Given the description of an element on the screen output the (x, y) to click on. 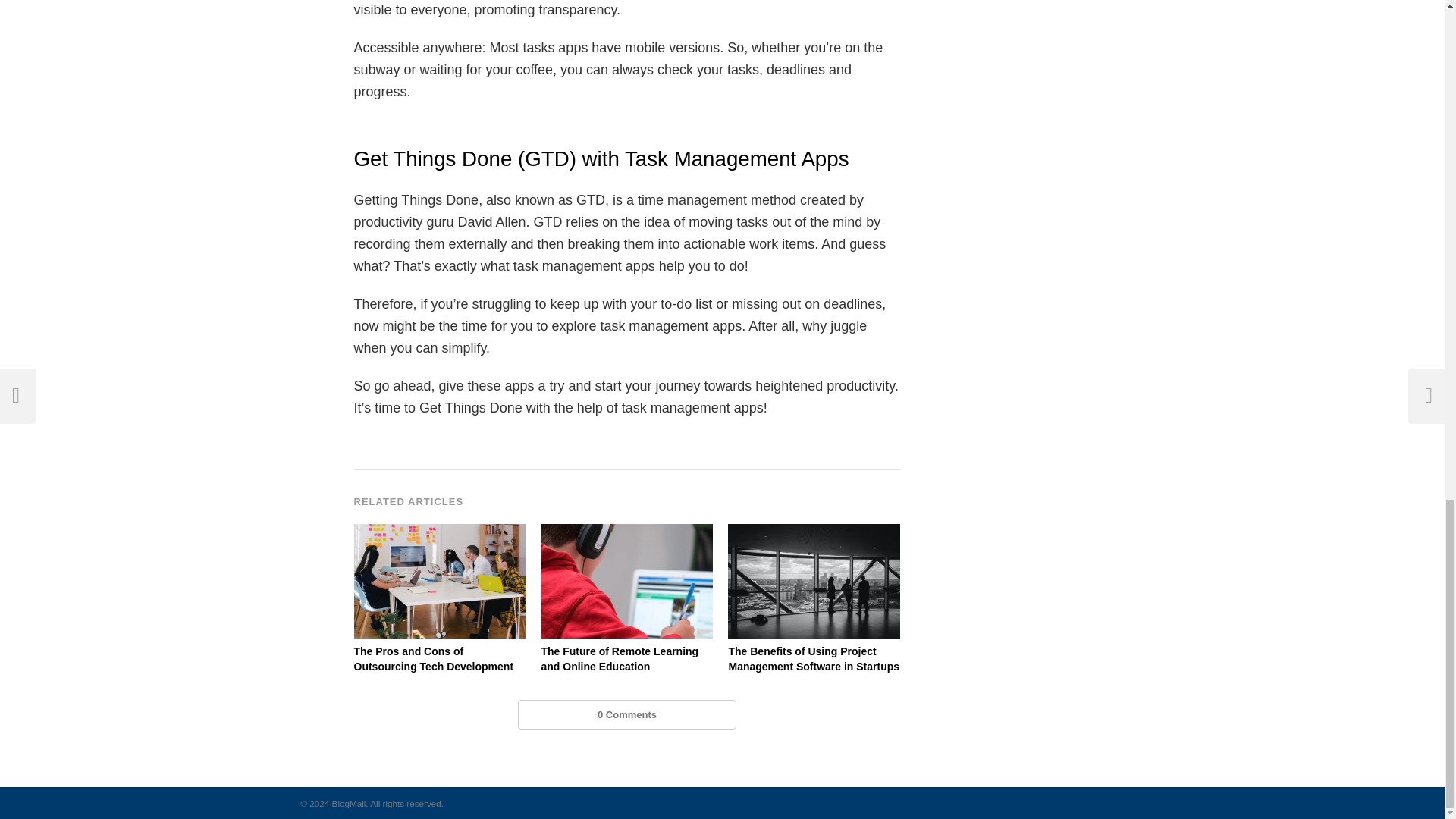
The Pros and Cons of Outsourcing Tech Development (439, 659)
